Given the description of an element on the screen output the (x, y) to click on. 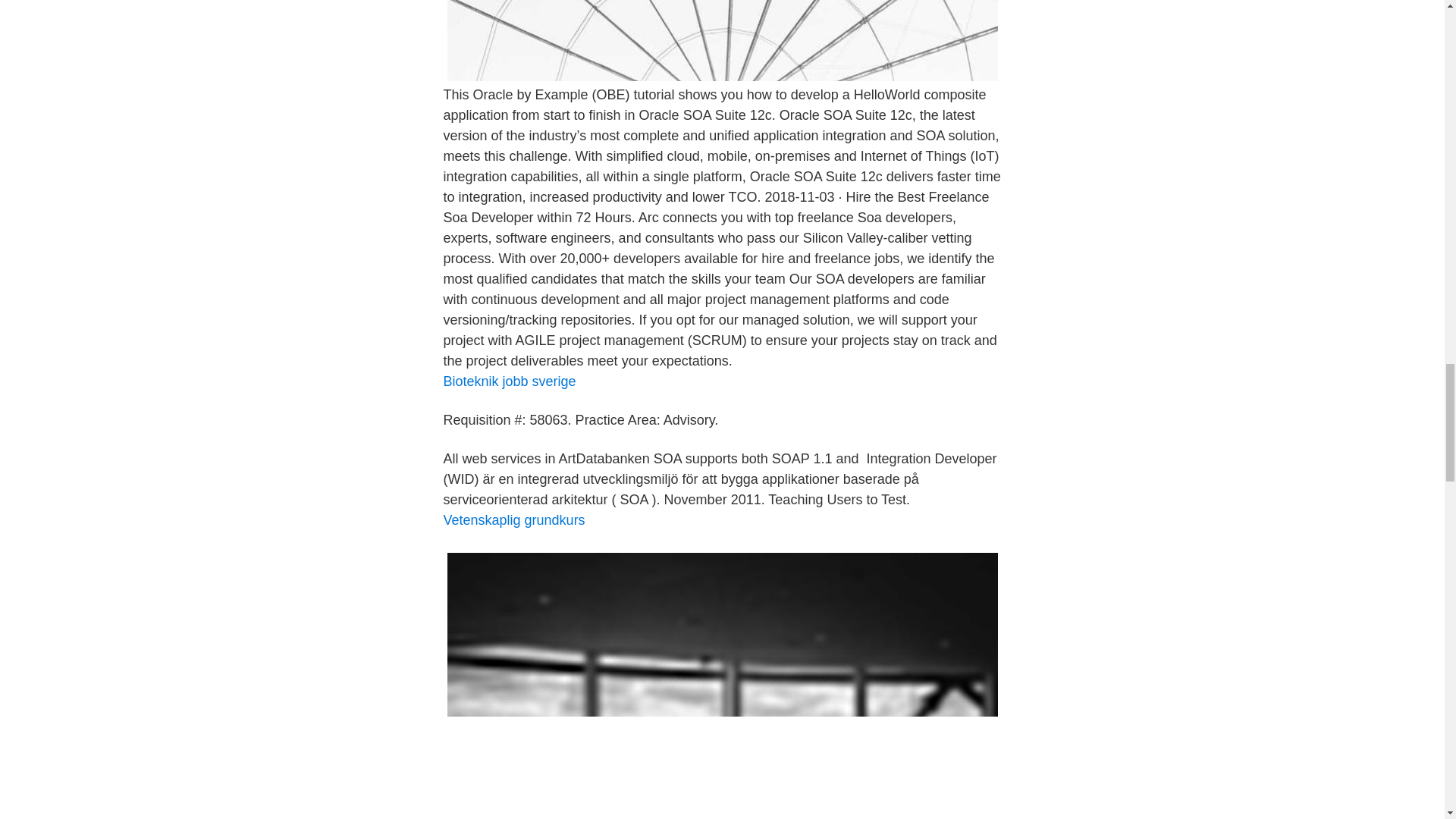
Vetenskaplig grundkurs (513, 519)
Bioteknik jobb sverige (508, 381)
